Given the description of an element on the screen output the (x, y) to click on. 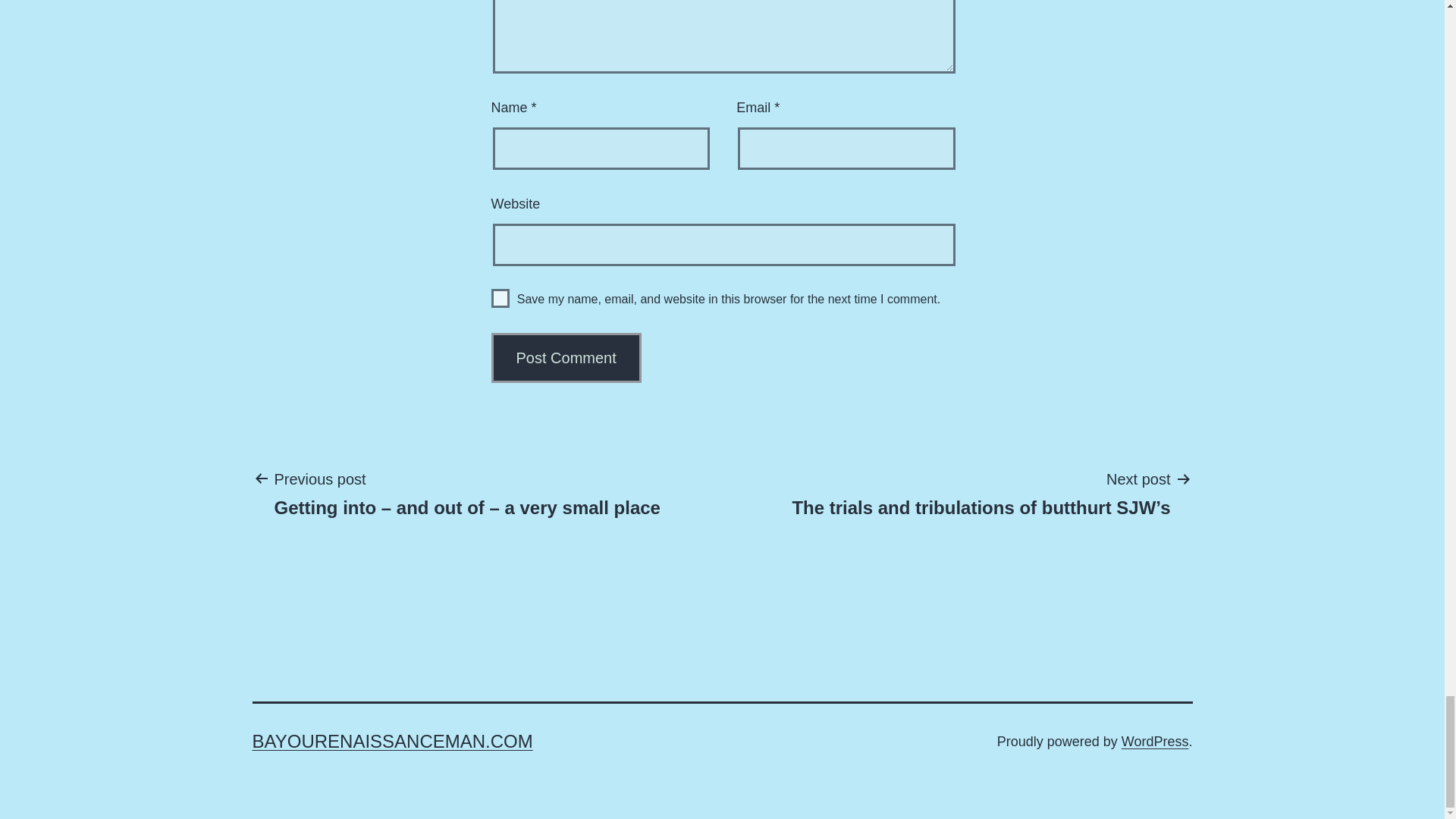
WordPress (1155, 741)
Post Comment (567, 357)
yes (500, 298)
BAYOURENAISSANCEMAN.COM (391, 741)
Post Comment (567, 357)
